Given the description of an element on the screen output the (x, y) to click on. 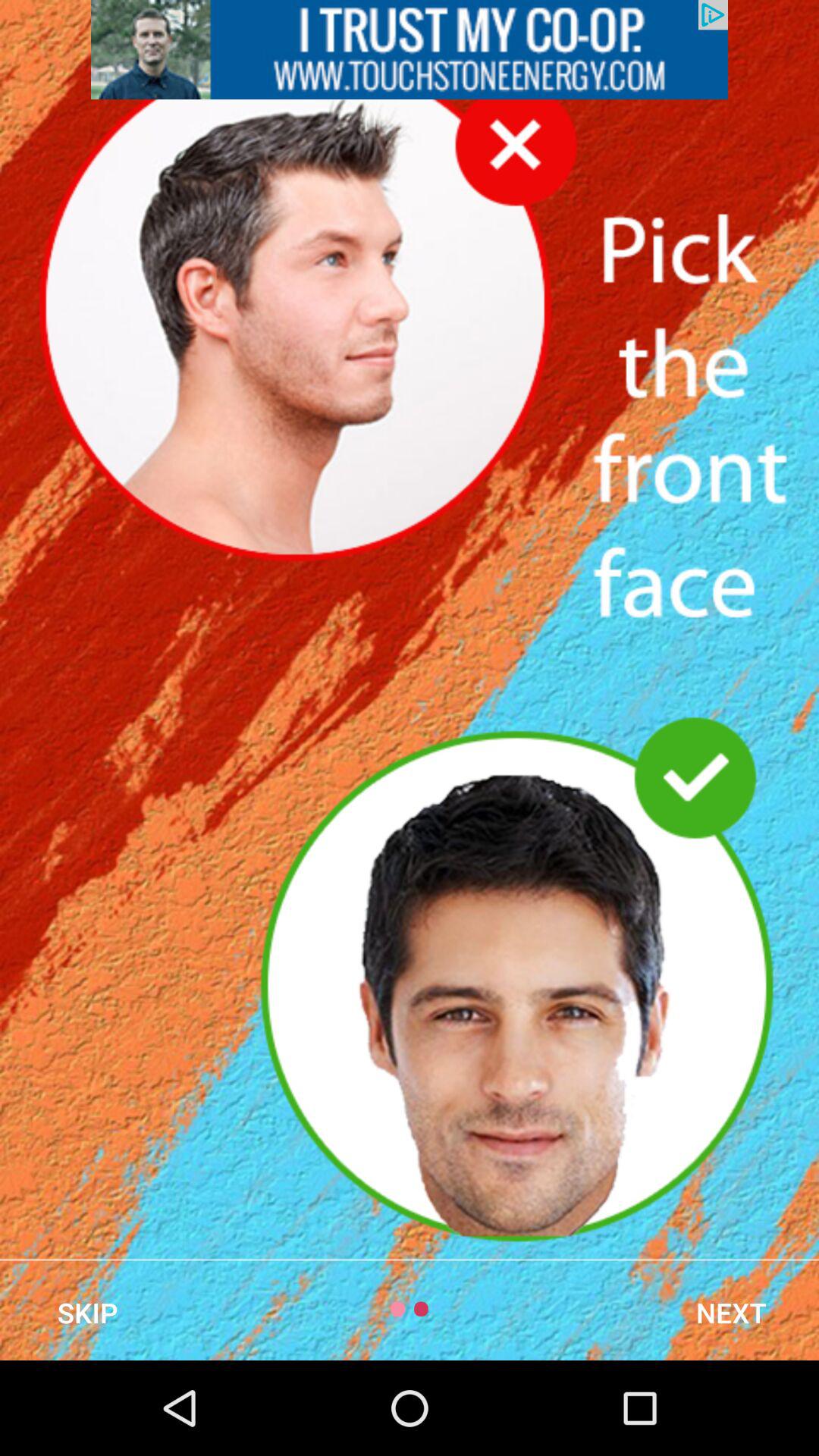
advertisement image (409, 49)
